Given the description of an element on the screen output the (x, y) to click on. 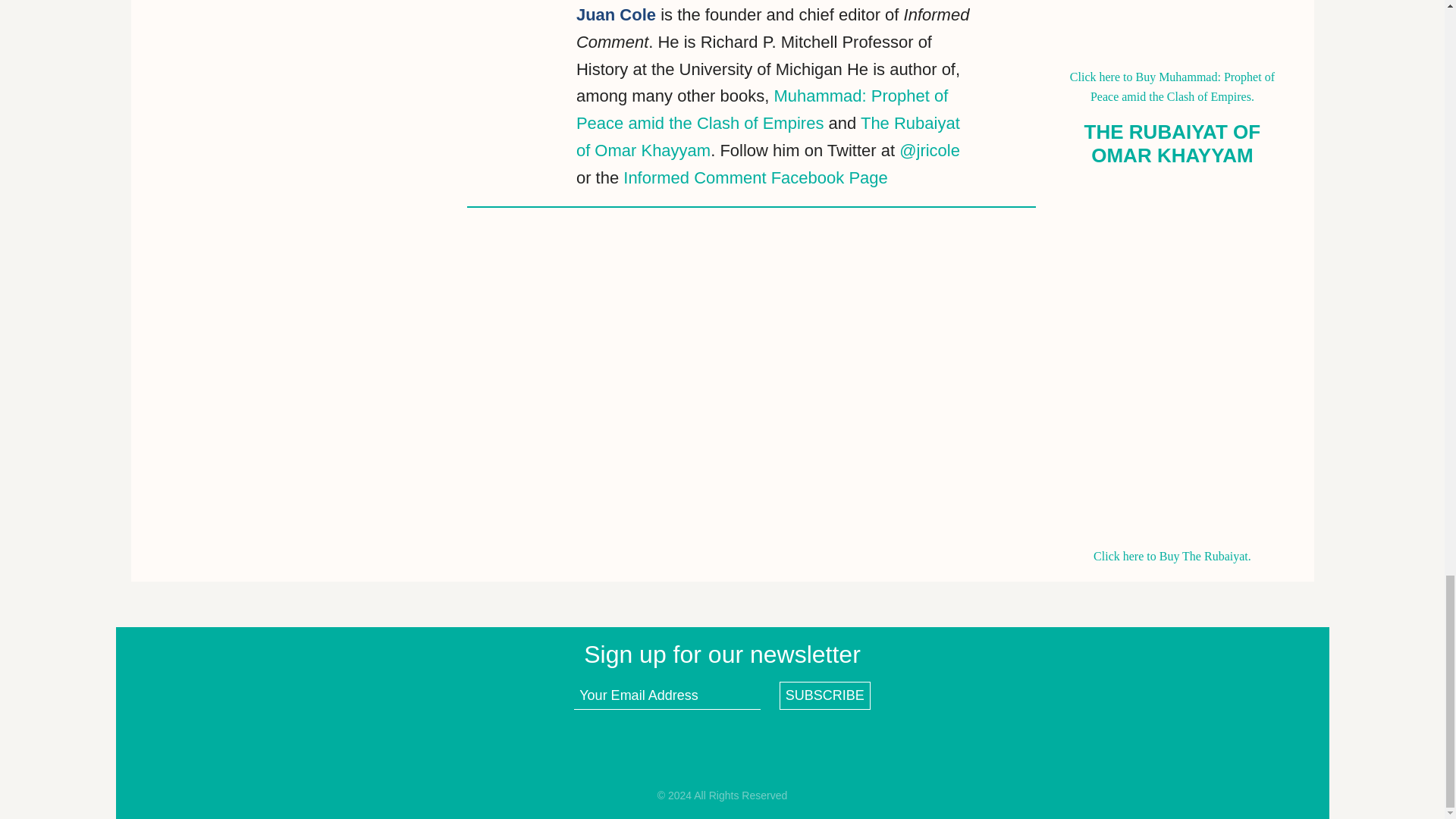
subscribe (824, 695)
Muhammad: Prophet of Peace amid the Clash of Empires (761, 109)
The Rubaiyat of Omar Khayyam (767, 136)
Juan Cole (616, 14)
Informed Comment Facebook Page (755, 177)
